Given the description of an element on the screen output the (x, y) to click on. 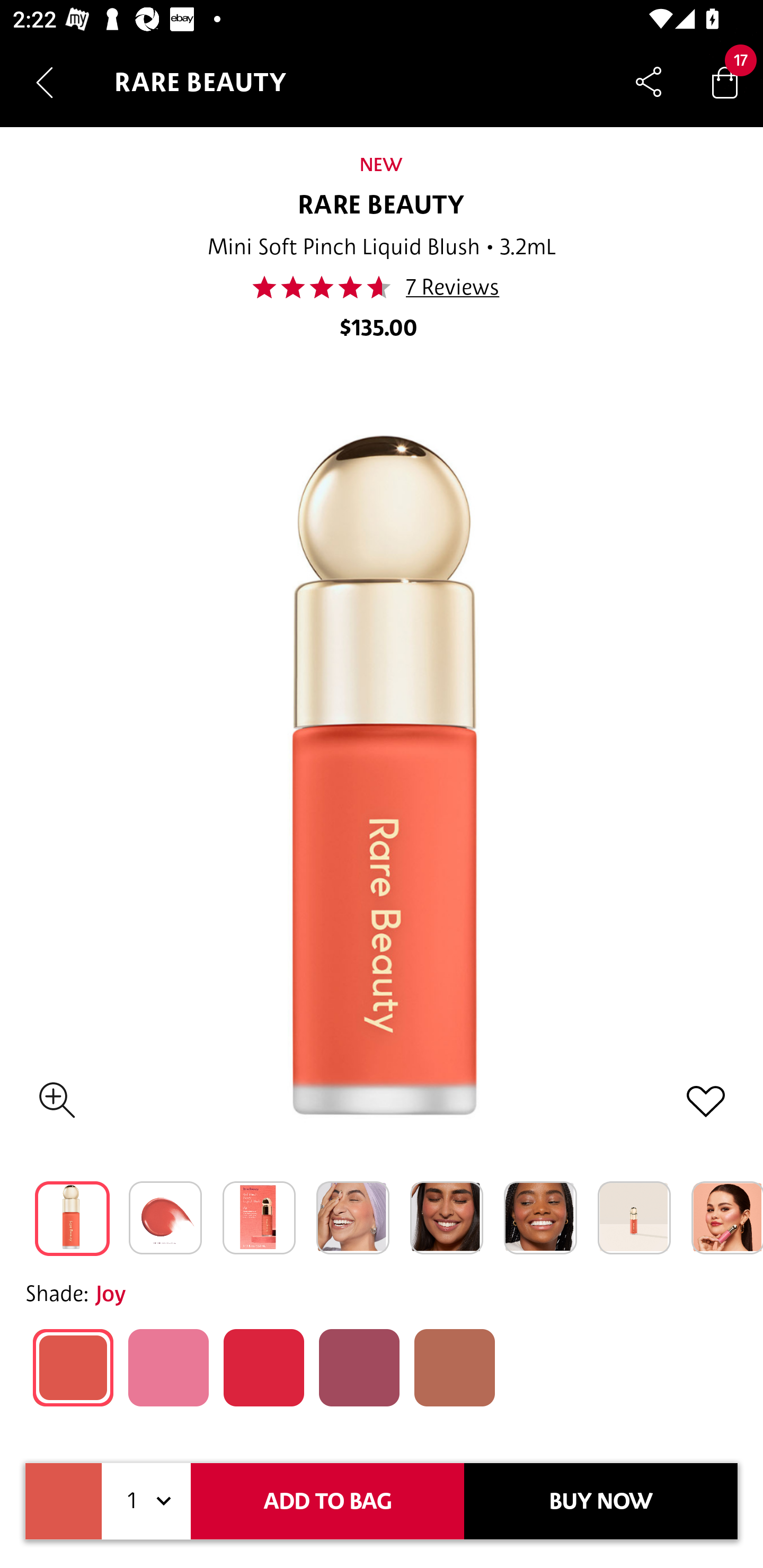
Navigate up (44, 82)
Share (648, 81)
Bag (724, 81)
RARE BEAUTY (381, 205)
46.0 7 Reviews (381, 286)
1 (145, 1500)
ADD TO BAG (326, 1500)
BUY NOW (600, 1500)
